Given the description of an element on the screen output the (x, y) to click on. 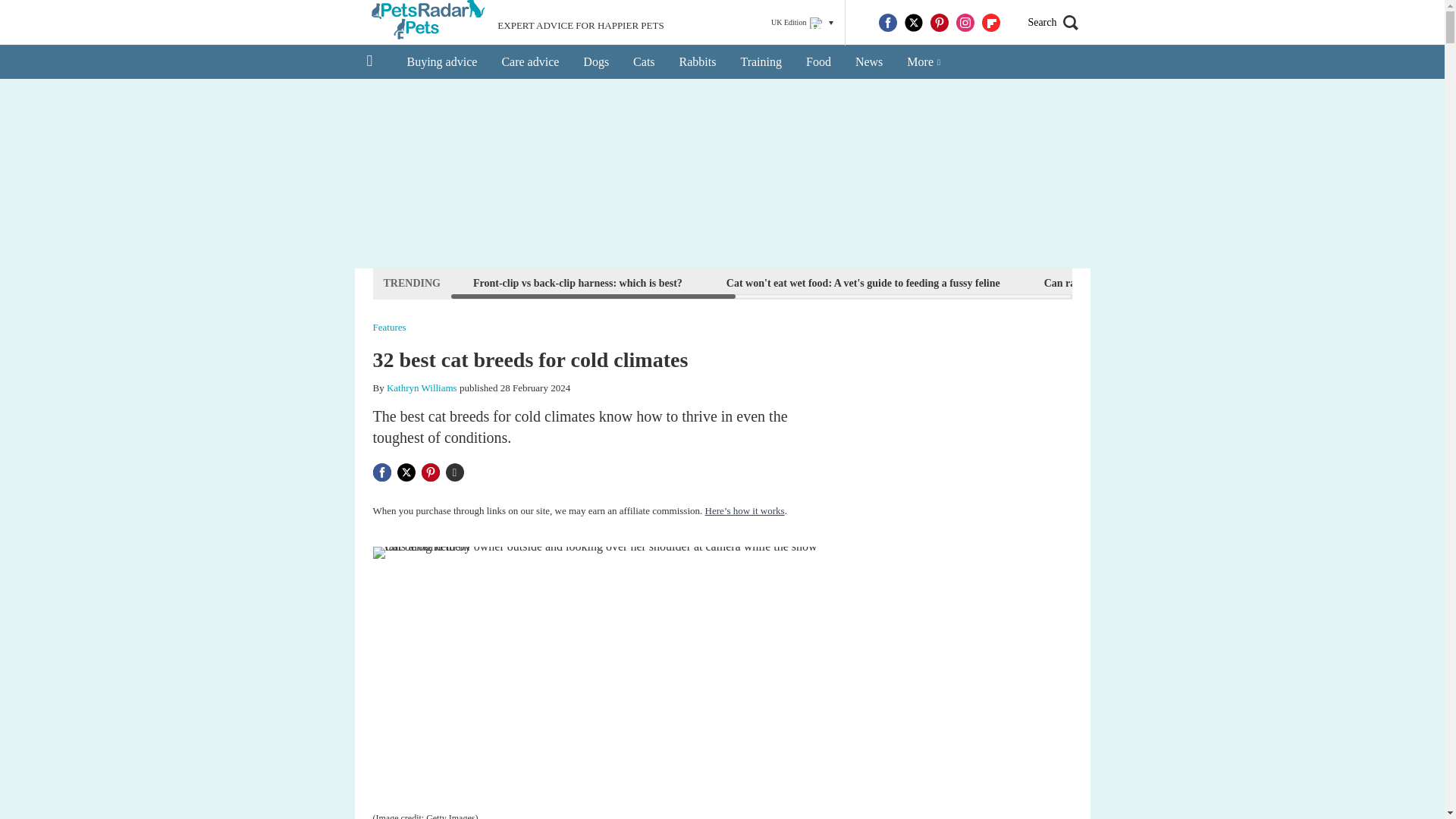
News (869, 61)
Training (760, 61)
Kathryn Williams (422, 387)
Can rabbits live alone? (1096, 282)
Rabbits (697, 61)
Cats (643, 61)
10 easy home remedies for fleas on cats (1281, 282)
Features (389, 327)
UK Edition (801, 22)
